Given the description of an element on the screen output the (x, y) to click on. 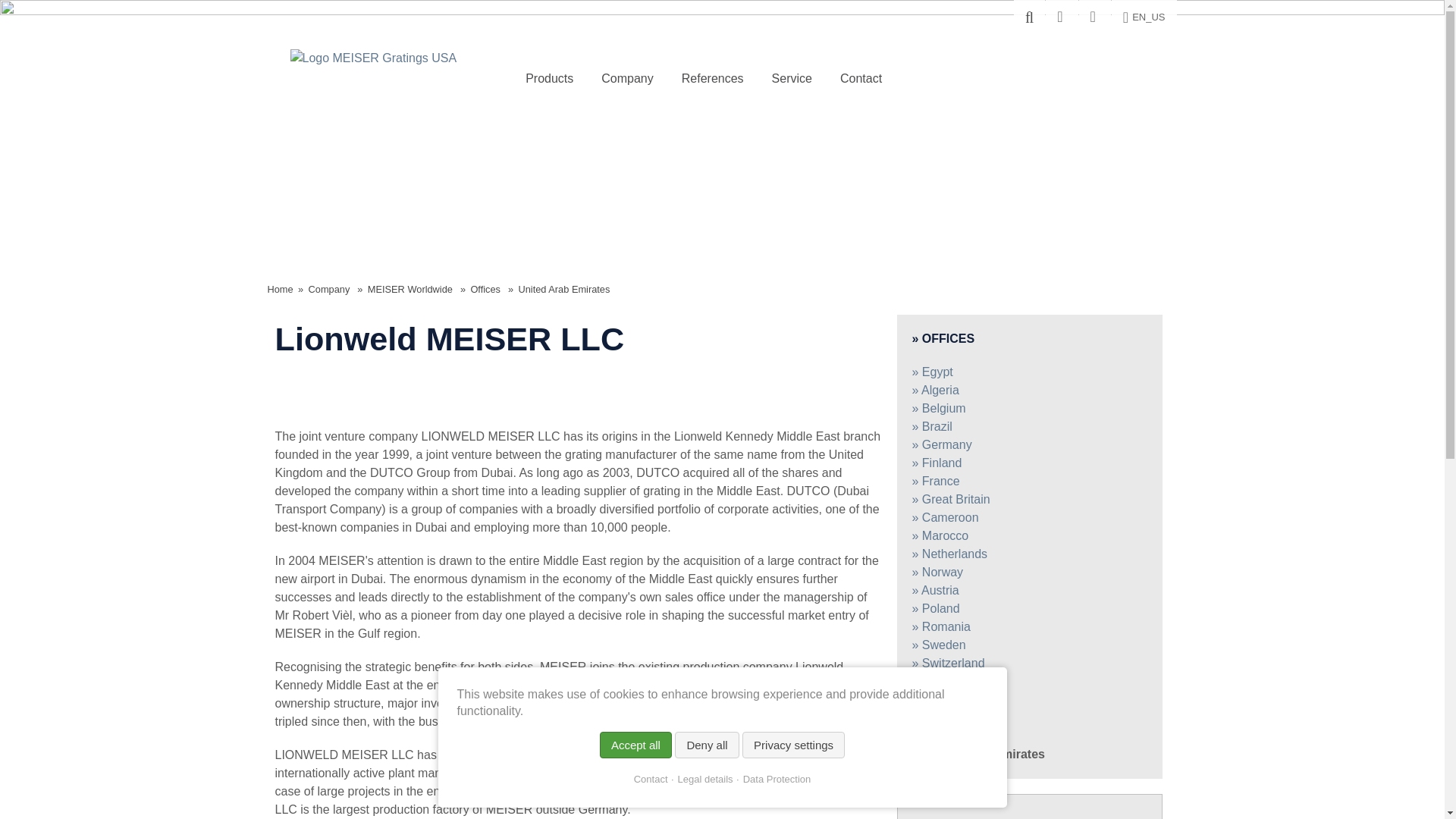
MEISER Weltweit (1061, 18)
MEISER Gratings USA (373, 58)
Products (549, 78)
Company (627, 78)
Download Center (1094, 18)
